Given the description of an element on the screen output the (x, y) to click on. 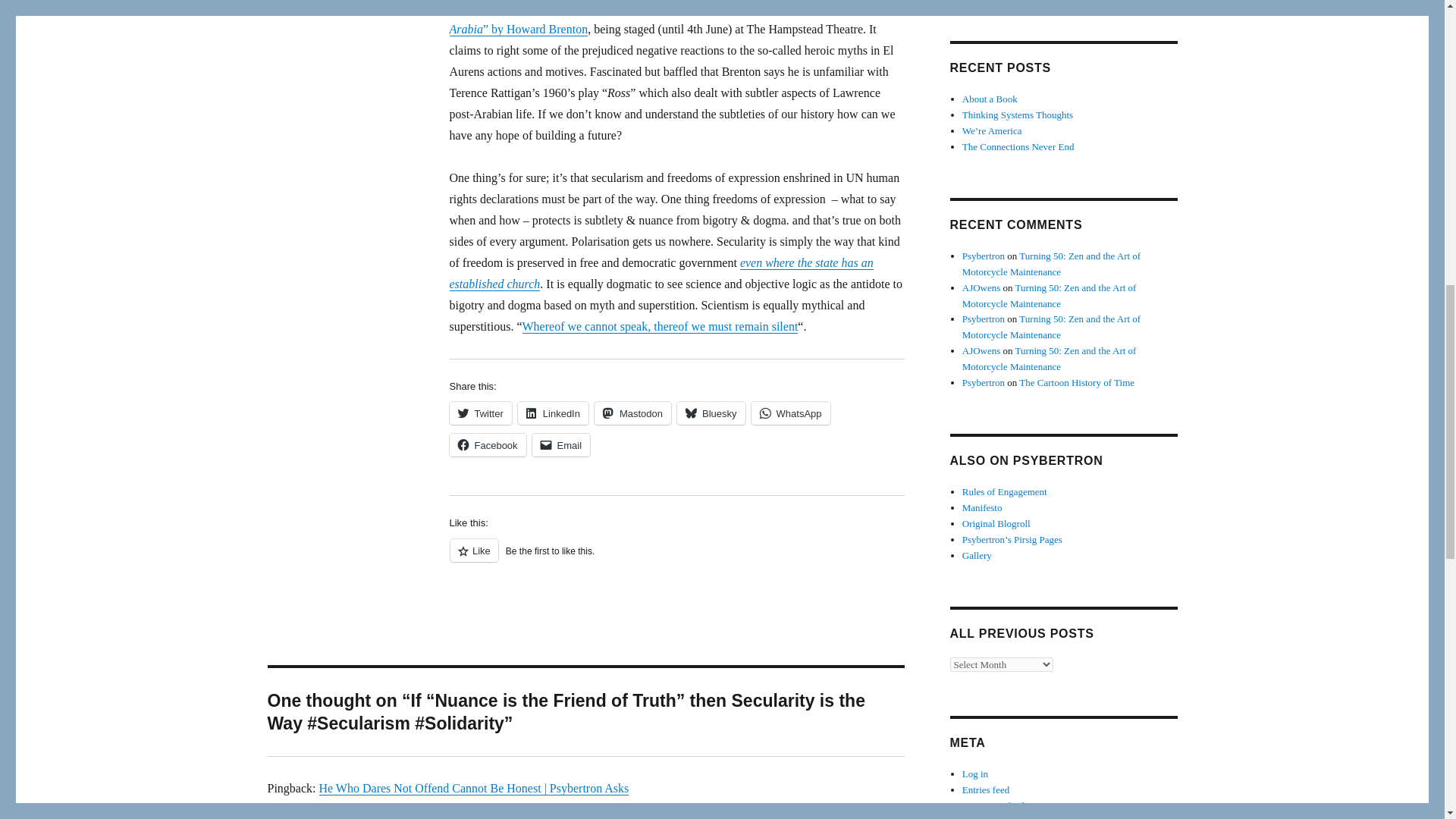
Bluesky (711, 413)
Click to share on Bluesky (711, 413)
About a Book (989, 98)
Facebook (486, 445)
Click to share on Facebook (486, 445)
Whereof we cannot speak, thereof we must remain silent (659, 326)
Mastodon (632, 413)
Click to share on LinkedIn (553, 413)
even where the state has an established church (660, 273)
Click to email a link to a friend (561, 445)
LinkedIn (553, 413)
WhatsApp (790, 413)
Twitter (479, 413)
Like or Reblog (676, 558)
Click to share on Twitter (479, 413)
